Given the description of an element on the screen output the (x, y) to click on. 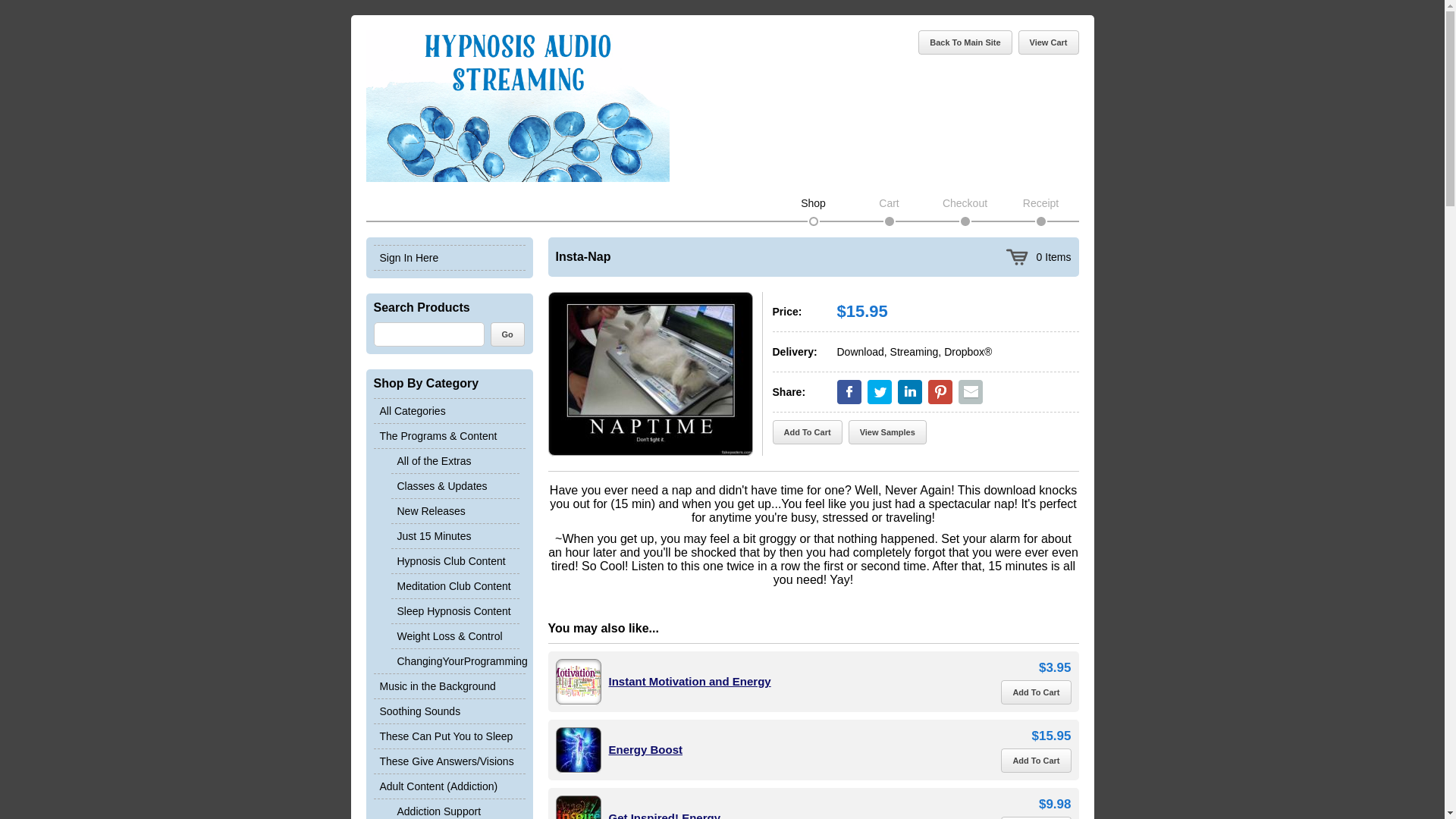
All of the Extras (455, 460)
Cart (888, 203)
Shop (812, 203)
Soothing Sounds (448, 711)
ChangingYourProgramming (455, 660)
Sleep Hypnosis Content (455, 610)
Addiction Support (455, 809)
New Releases (455, 510)
Music in the Background (448, 686)
These Can Put You to Sleep (448, 736)
Just 15 Minutes (455, 535)
Hypnosis Club Content (455, 560)
All Categories (448, 411)
Meditation Club Content (455, 585)
